Given the description of an element on the screen output the (x, y) to click on. 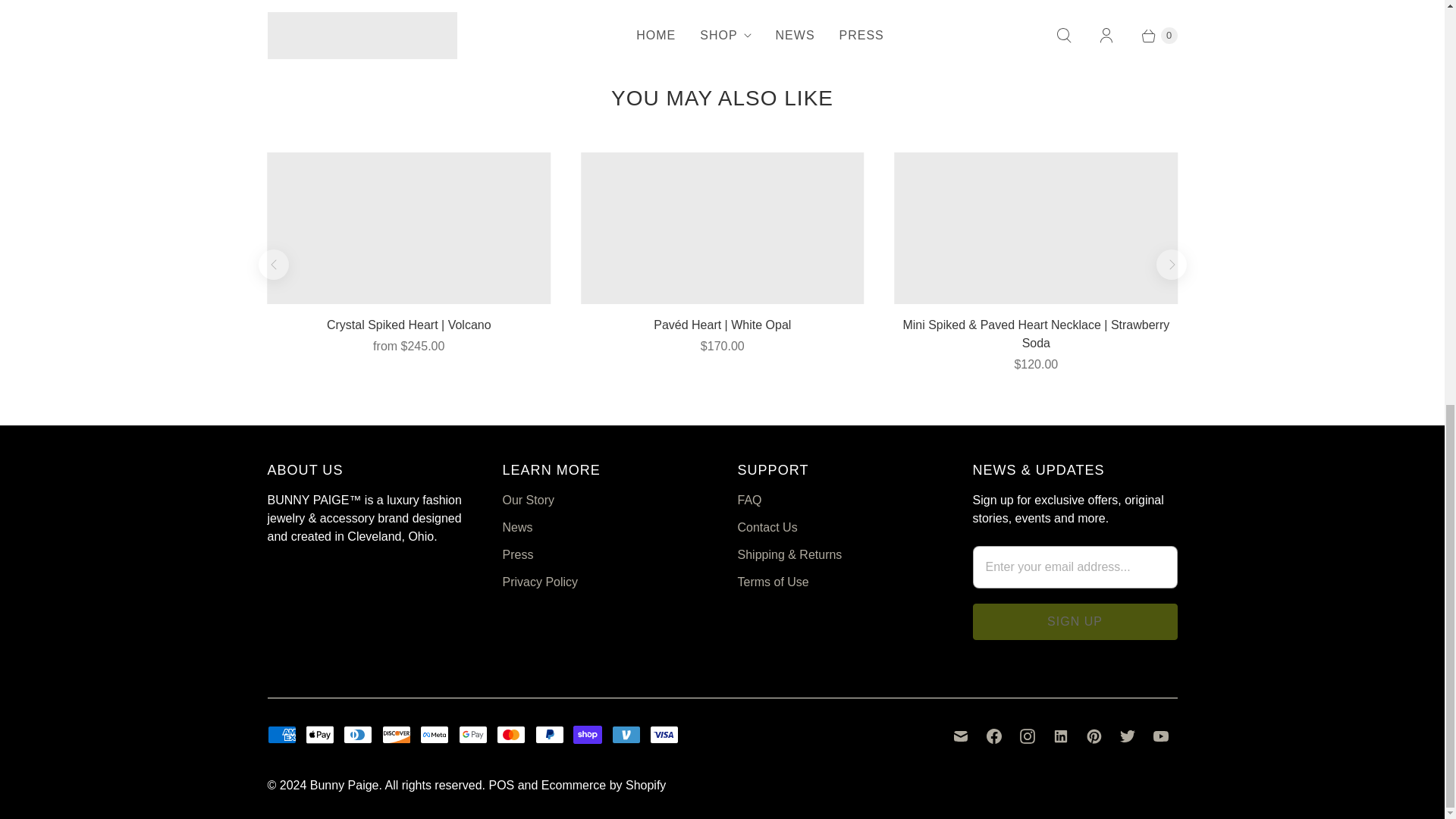
PayPal (549, 734)
Visa (663, 734)
Discover (395, 734)
Sign Up (1074, 621)
Diners Club (357, 734)
American Express (280, 734)
Meta Pay (434, 734)
Shop Pay (587, 734)
Google Pay (472, 734)
Venmo (625, 734)
